Given the description of an element on the screen output the (x, y) to click on. 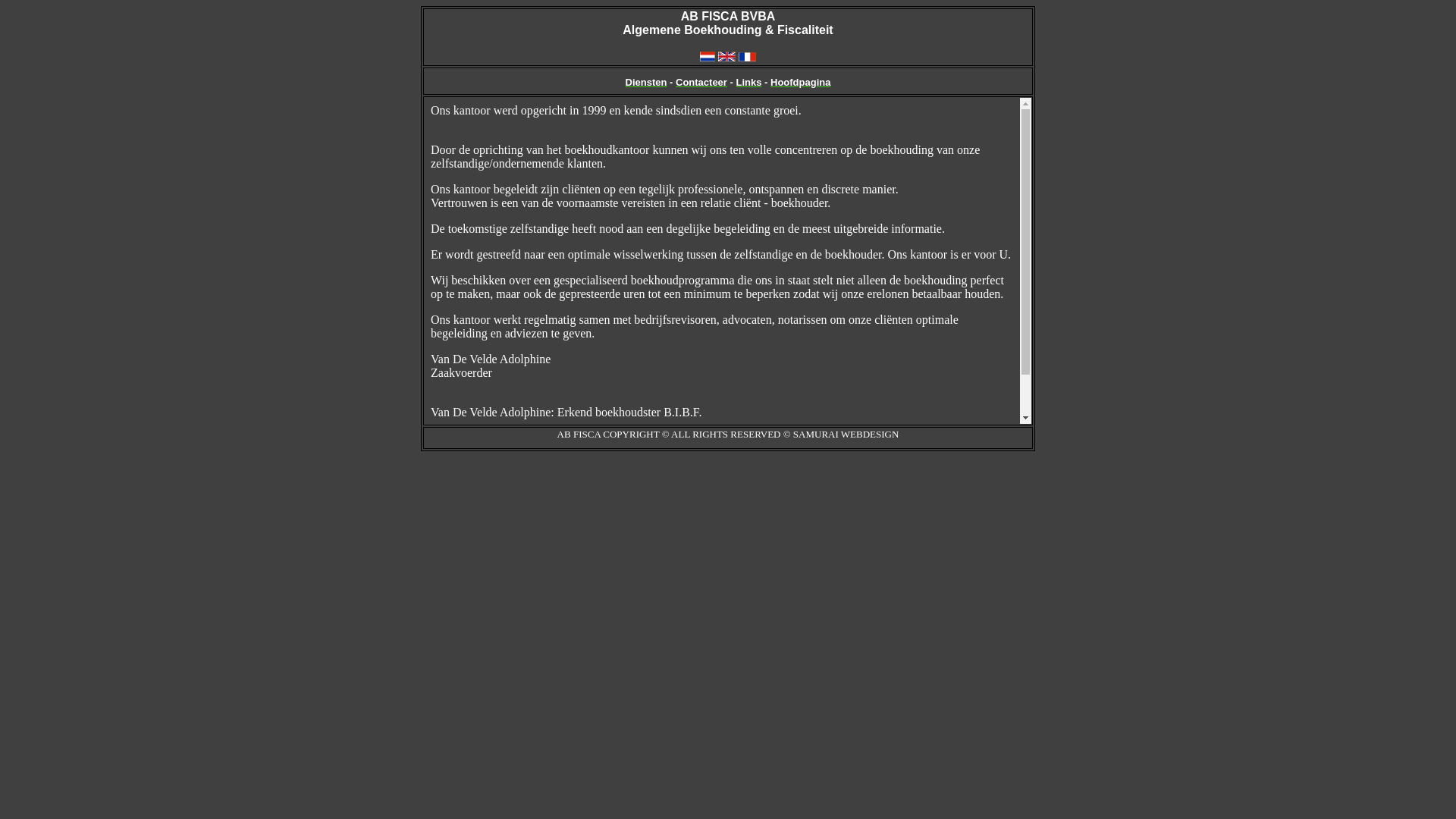
Diensten Element type: text (646, 81)
Hoofdpagina Element type: text (800, 81)
Contacteer Element type: text (701, 81)
Links Element type: text (748, 81)
